Given the description of an element on the screen output the (x, y) to click on. 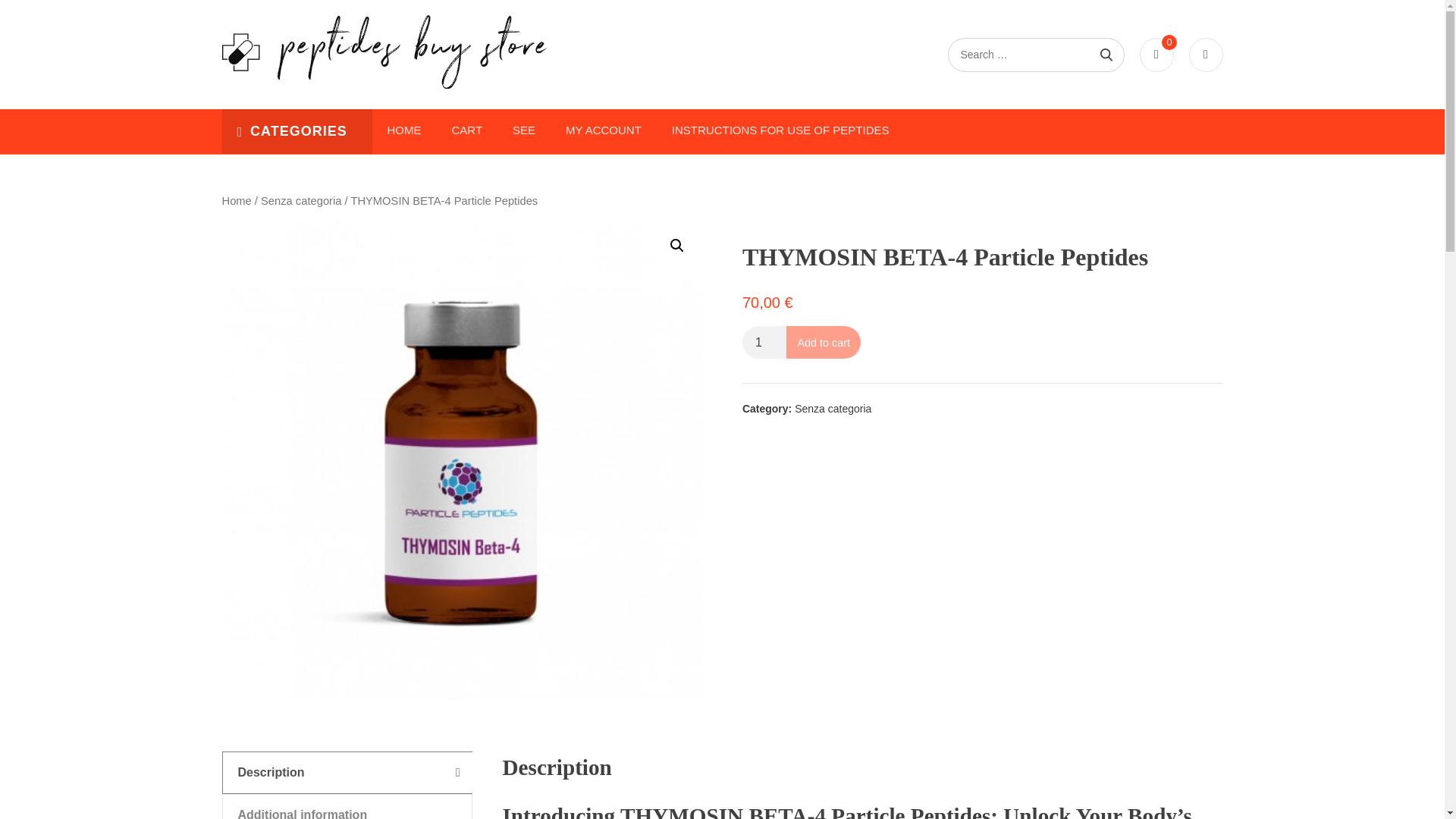
CATEGORIES (291, 130)
Additional information (346, 806)
MY ACCOUNT (603, 130)
INSTRUCTIONS FOR USE OF PEPTIDES (780, 130)
Add to cart (823, 341)
1 (764, 341)
View your shopping cart (1155, 54)
HOME (403, 130)
Description (346, 772)
Home (235, 200)
CART (466, 130)
0 (1155, 54)
Search (1105, 54)
Search (1105, 54)
Senza categoria (832, 408)
